Given the description of an element on the screen output the (x, y) to click on. 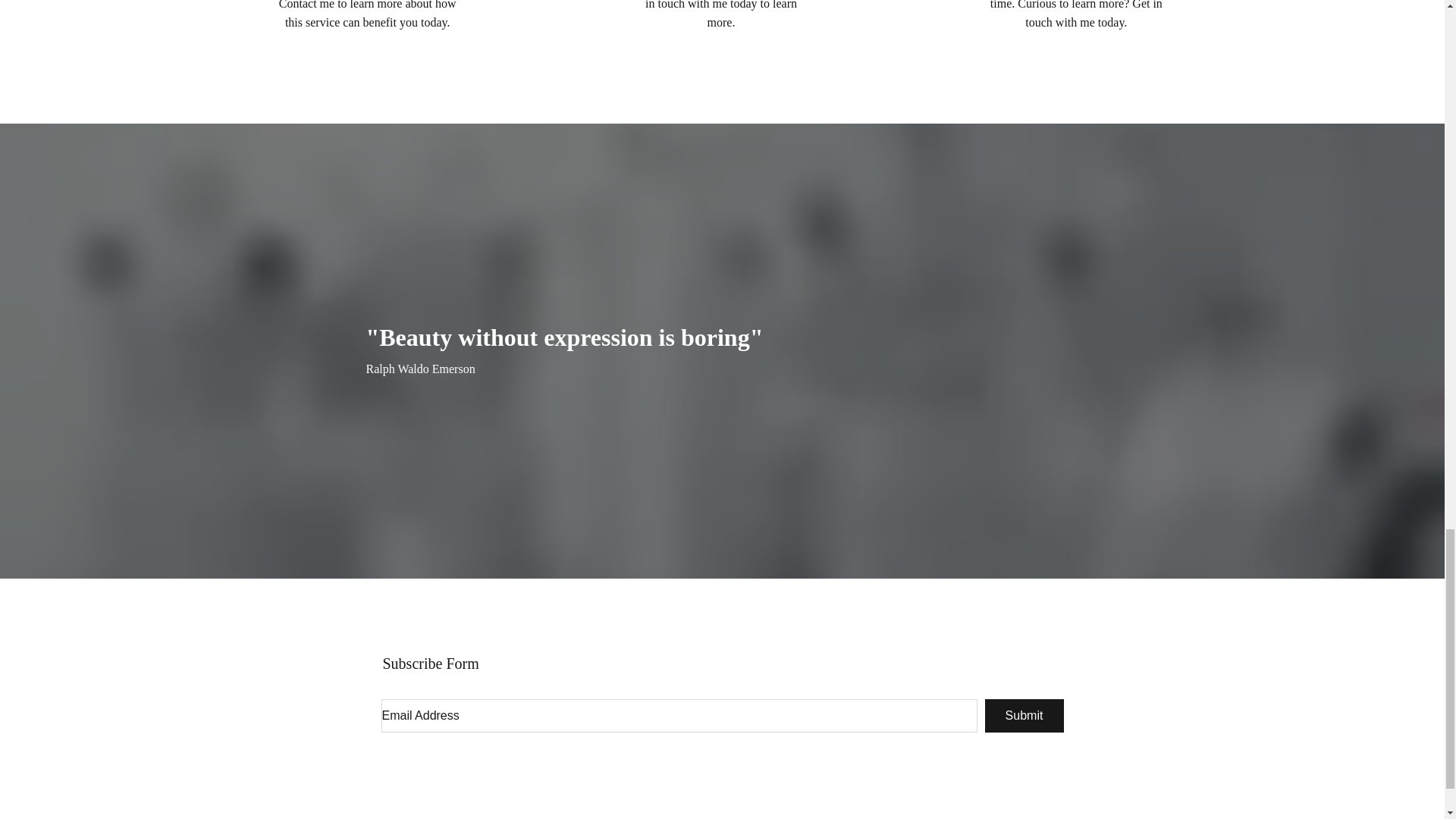
Submit (1023, 715)
